Given the description of an element on the screen output the (x, y) to click on. 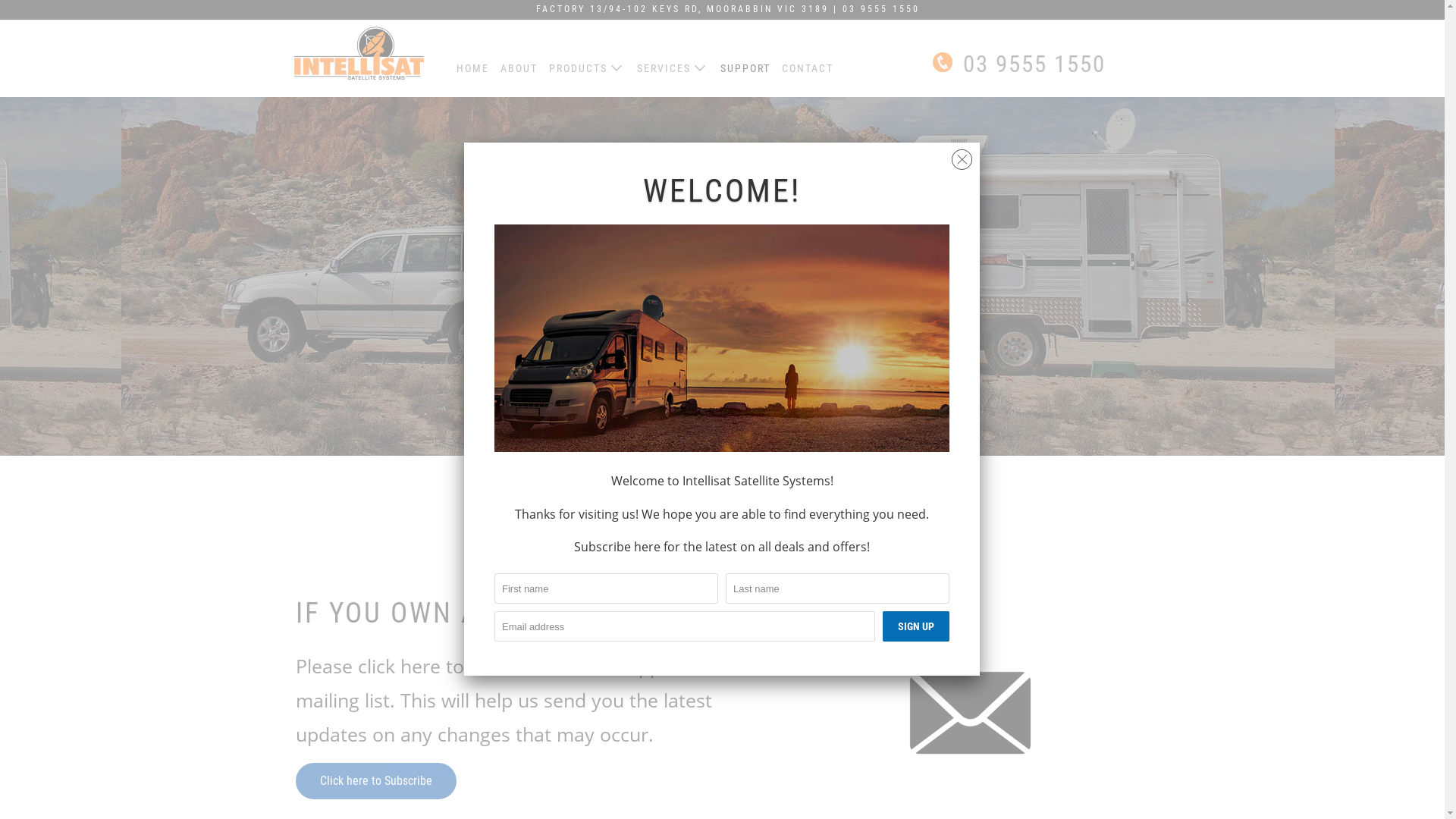
03 9555 1550 Element type: text (880, 8)
SUPPORT Element type: text (745, 67)
ABOUT Element type: text (518, 67)
HOME Element type: text (472, 67)
Sign Up Element type: text (915, 626)
SERVICES Element type: text (672, 67)
 03 9555 1550 Element type: text (1018, 62)
PRODUCTS Element type: text (587, 67)
CONTACT Element type: text (807, 67)
Click here to Subscribe Element type: text (375, 780)
Close Element type: hover (961, 155)
Intellisat Element type: hover (358, 57)
